Given the description of an element on the screen output the (x, y) to click on. 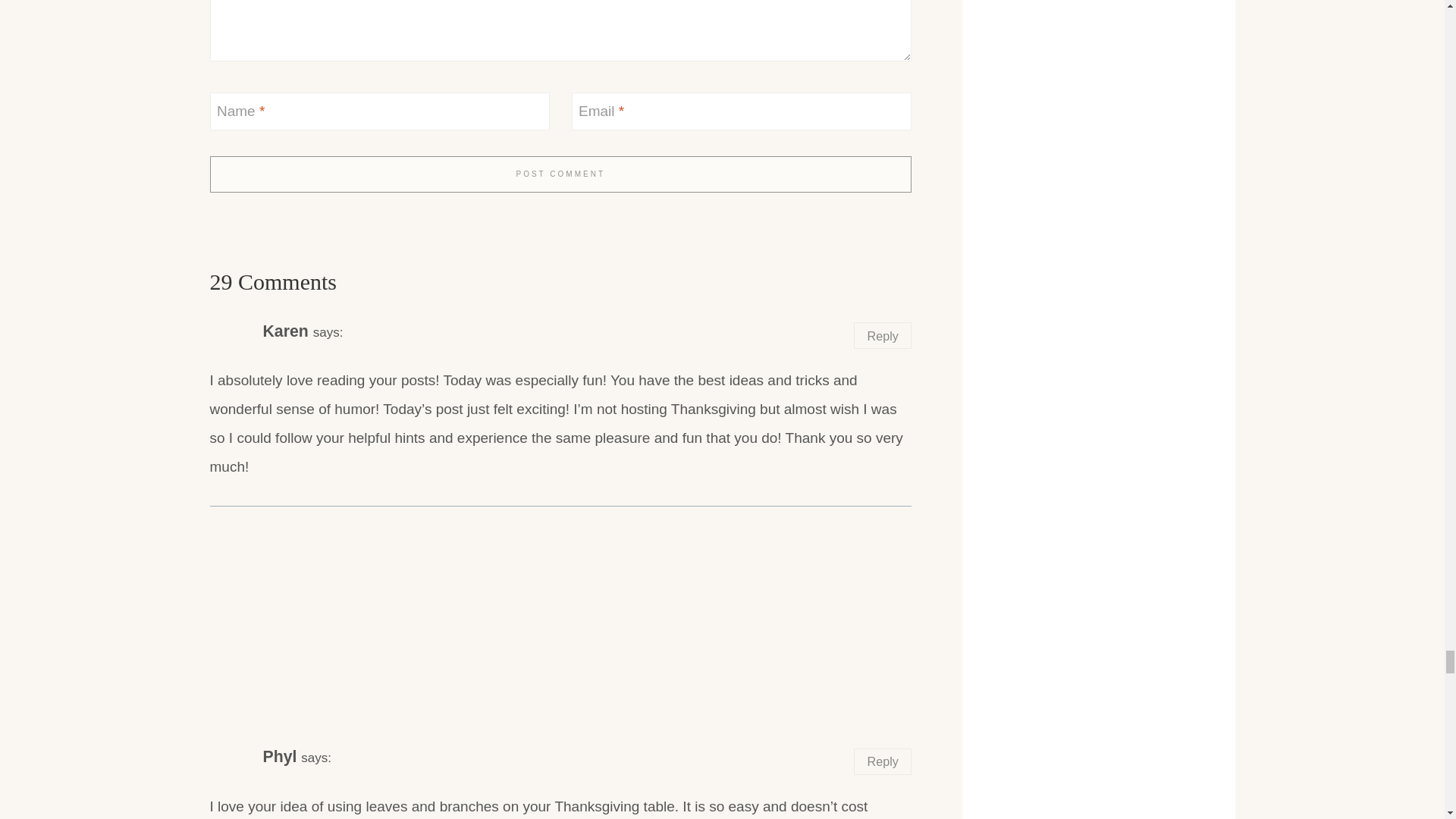
Post Comment (560, 174)
